Given the description of an element on the screen output the (x, y) to click on. 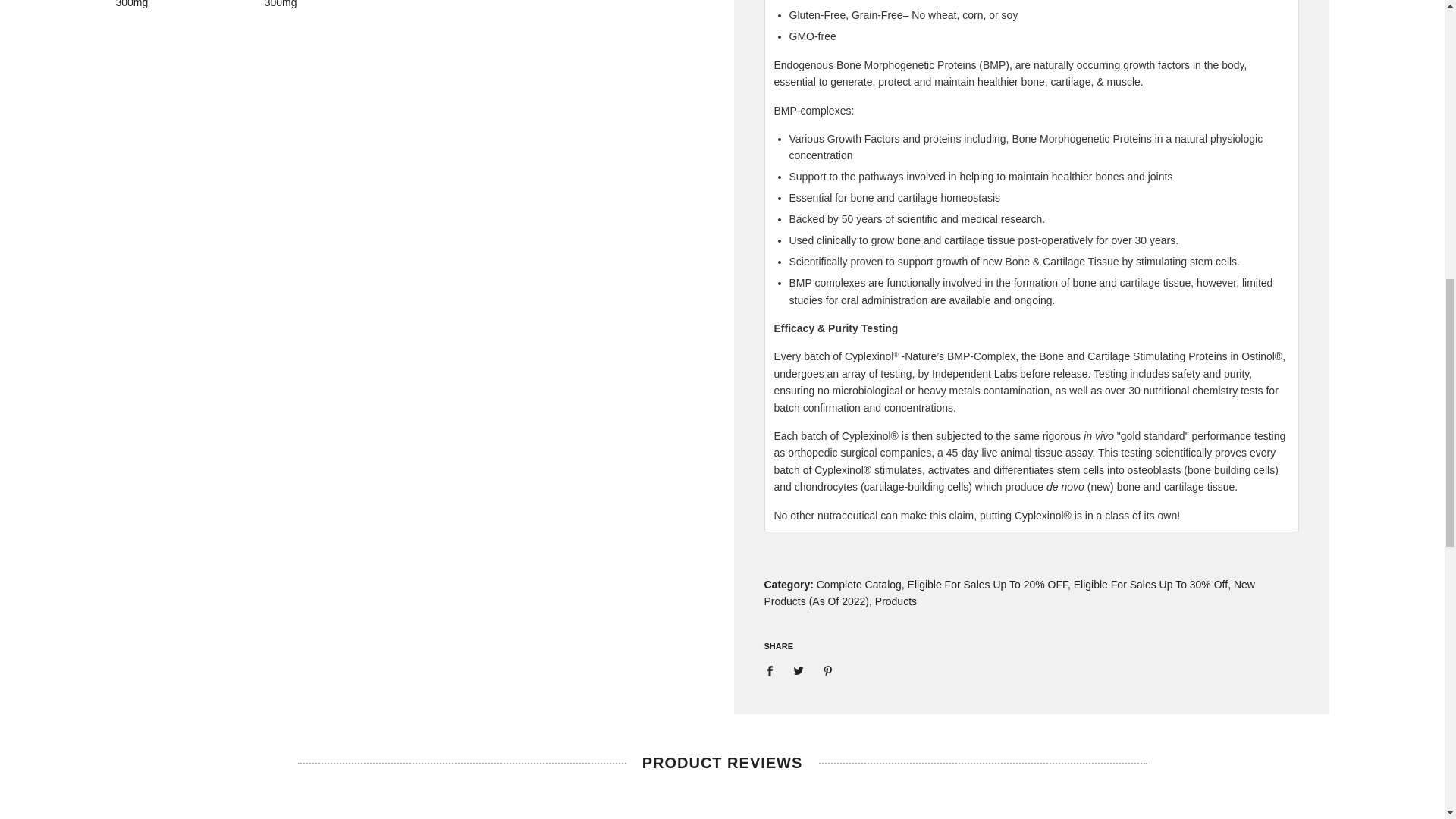
Complete Catalog (858, 584)
